Given the description of an element on the screen output the (x, y) to click on. 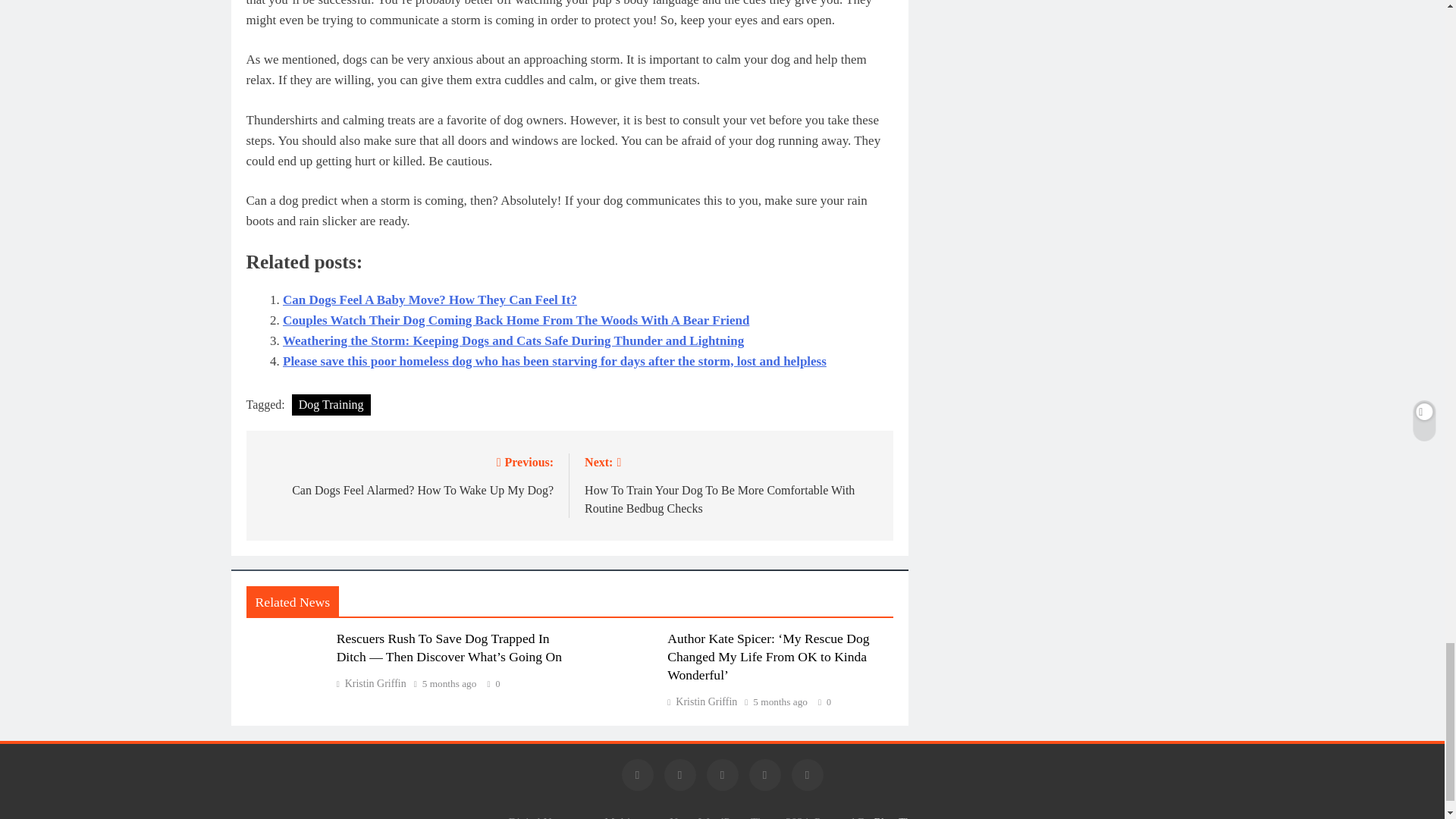
Can Dogs Feel A Baby Move? How They Can Feel It? (429, 299)
Kristin Griffin (371, 683)
Dog Training (331, 404)
5 months ago (449, 683)
